Given the description of an element on the screen output the (x, y) to click on. 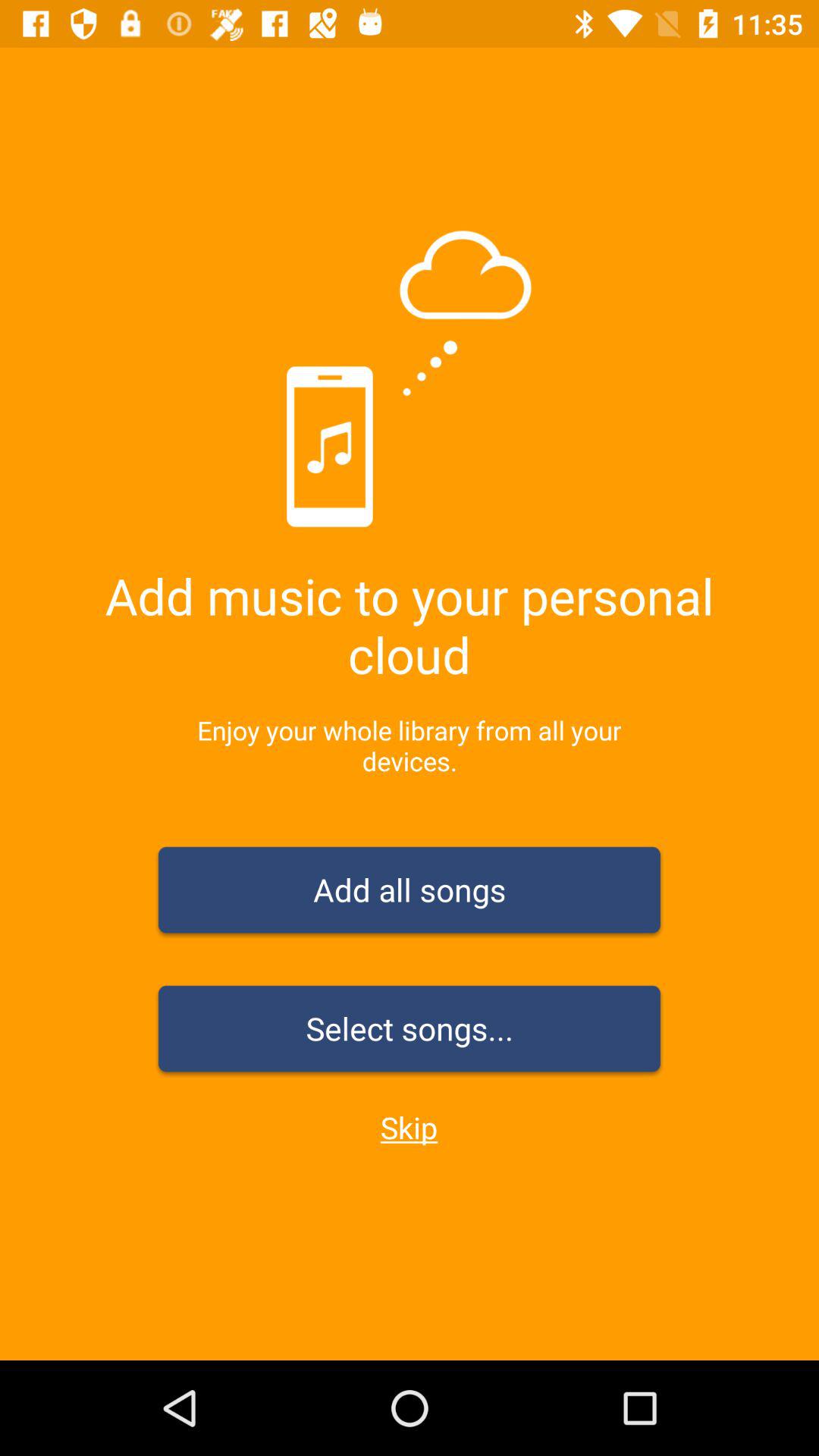
scroll to the add all songs (409, 892)
